Given the description of an element on the screen output the (x, y) to click on. 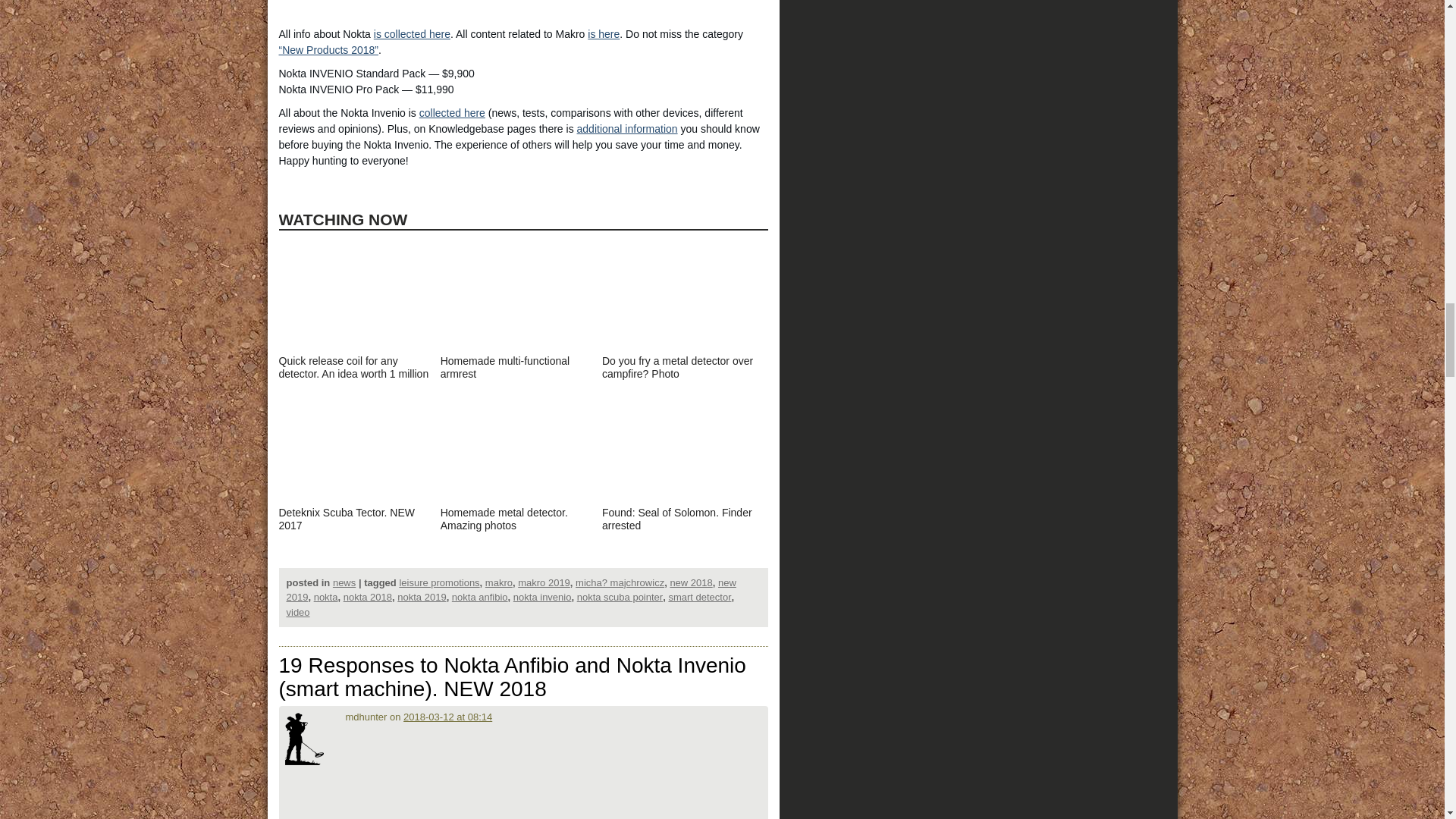
Deteknix Scuba Tector. NEW 2017 (358, 512)
nokta anfibio (479, 596)
new 2018 (690, 582)
nokta (325, 596)
nokta scuba pointer (619, 596)
nokta 2019 (421, 596)
leisure promotions (438, 582)
Found: Seal of Solomon. Finder arrested (681, 512)
Do you fry a metal detector over campfire? Photo (681, 360)
additional information (627, 128)
makro (498, 582)
nokta invenio (542, 596)
2018-03-12 at 08:14 (447, 716)
news (344, 582)
makro 2019 (544, 582)
